Given the description of an element on the screen output the (x, y) to click on. 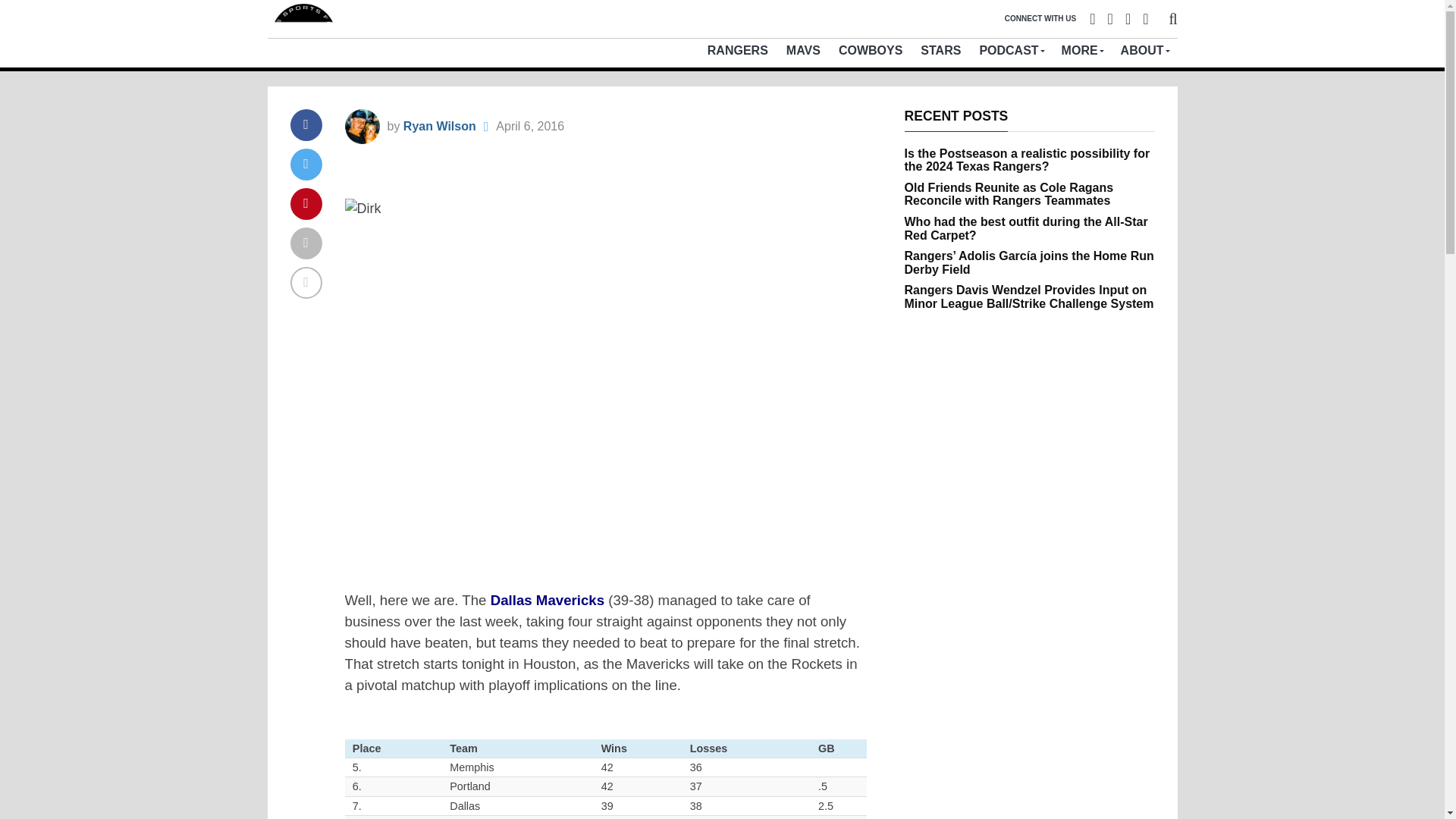
MAVS (803, 50)
RANGERS (737, 50)
Posts by Ryan Wilson (439, 125)
